Given the description of an element on the screen output the (x, y) to click on. 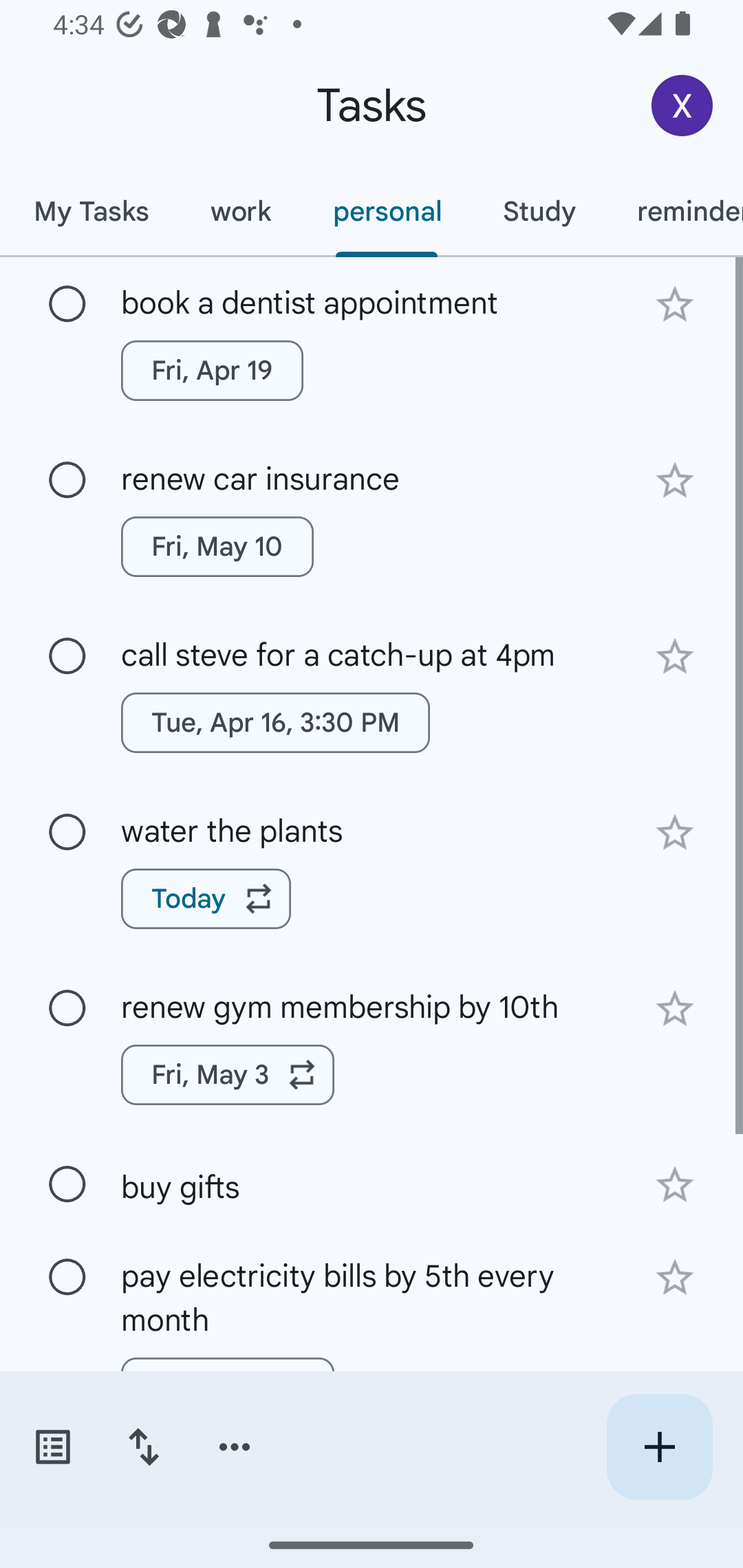
My Tasks (90, 211)
work (240, 211)
Study (538, 211)
reminders (674, 211)
Add star (674, 303)
Mark as complete (67, 304)
Fri, Apr 19 (212, 369)
Add star (674, 480)
Mark as complete (67, 480)
Fri, May 10 (217, 546)
Add star (674, 656)
Mark as complete (67, 655)
Tue, Apr 16, 3:30 PM (275, 722)
Add star (674, 832)
Mark as complete (67, 833)
Today (206, 897)
Add star (674, 1007)
Mark as complete (67, 1008)
Fri, May 3 (227, 1074)
buy gifts buy gifts Add star Mark as complete (371, 1183)
Add star (674, 1184)
Mark as complete (67, 1184)
Add star (674, 1277)
Mark as complete (67, 1276)
Switch task lists (52, 1447)
Create new task (659, 1446)
Change sort order (143, 1446)
More options (234, 1446)
